Given the description of an element on the screen output the (x, y) to click on. 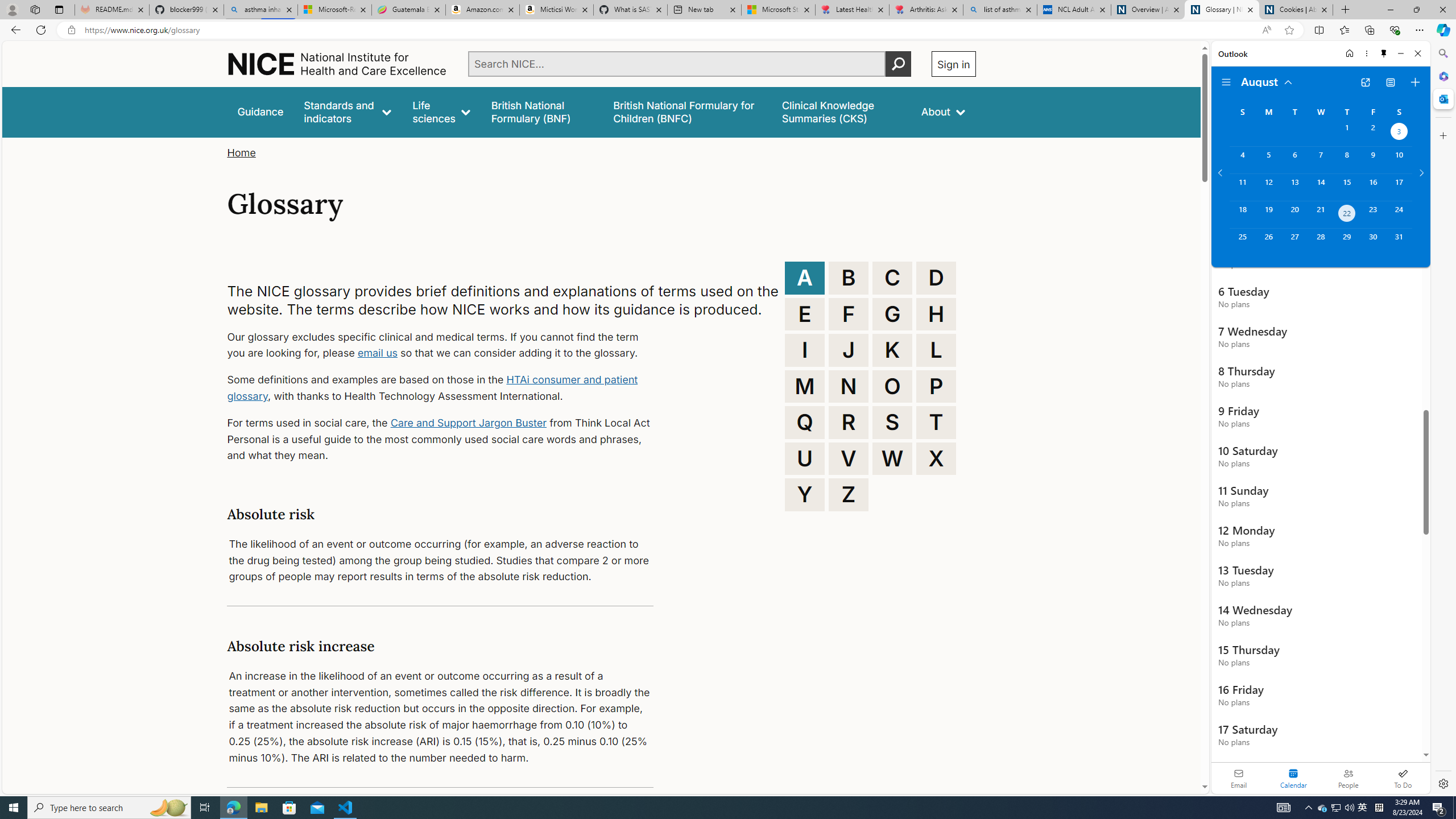
U (804, 458)
W (892, 458)
Y (804, 494)
Wednesday, August 21, 2024.  (1320, 214)
R (848, 422)
Sunday, August 4, 2024.  (1242, 159)
D (935, 277)
Glossary | NICE (1221, 9)
Thursday, August 15, 2024.  (1346, 186)
Open in new tab (1365, 82)
